Given the description of an element on the screen output the (x, y) to click on. 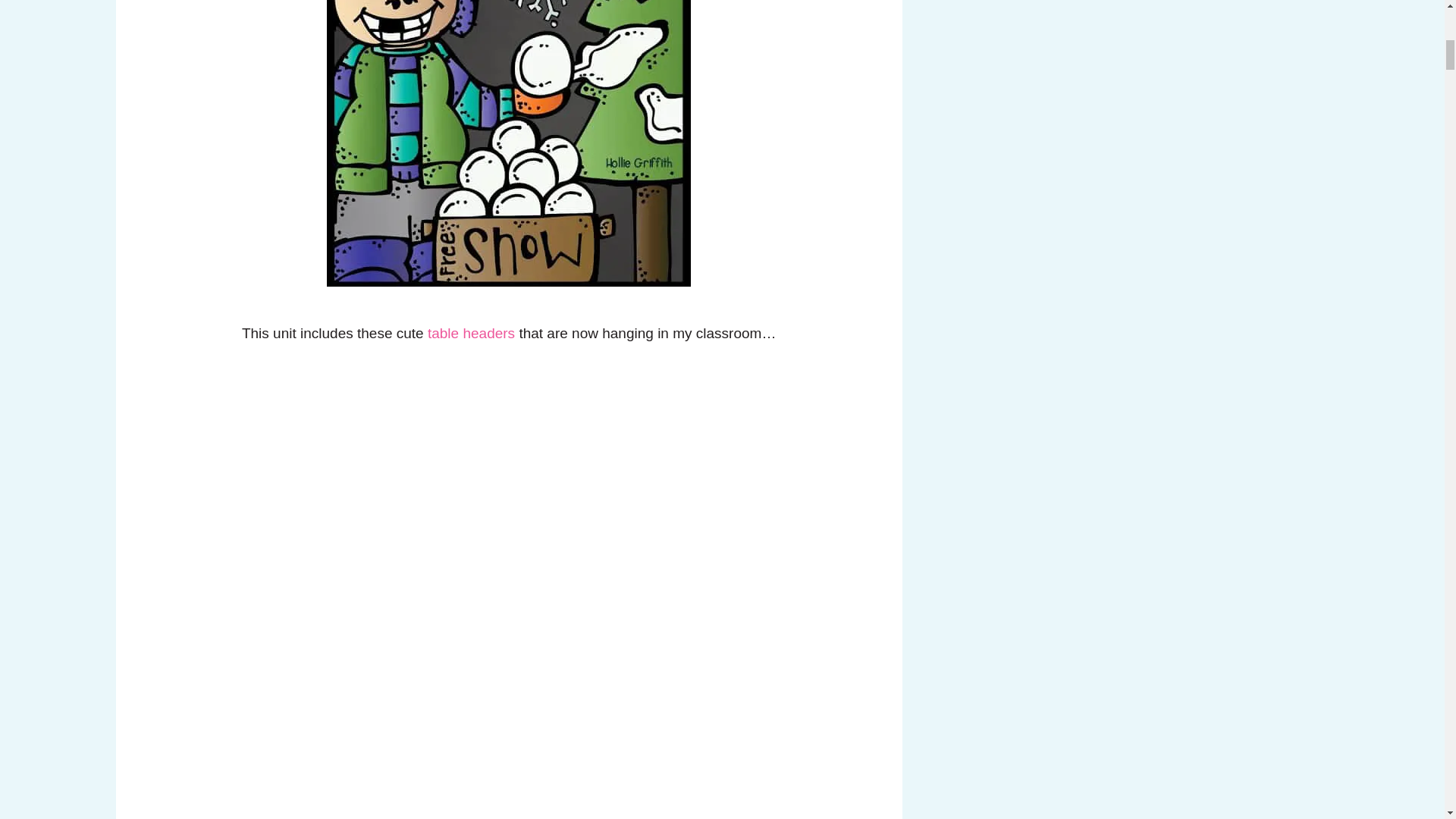
table headers (471, 333)
